Given the description of an element on the screen output the (x, y) to click on. 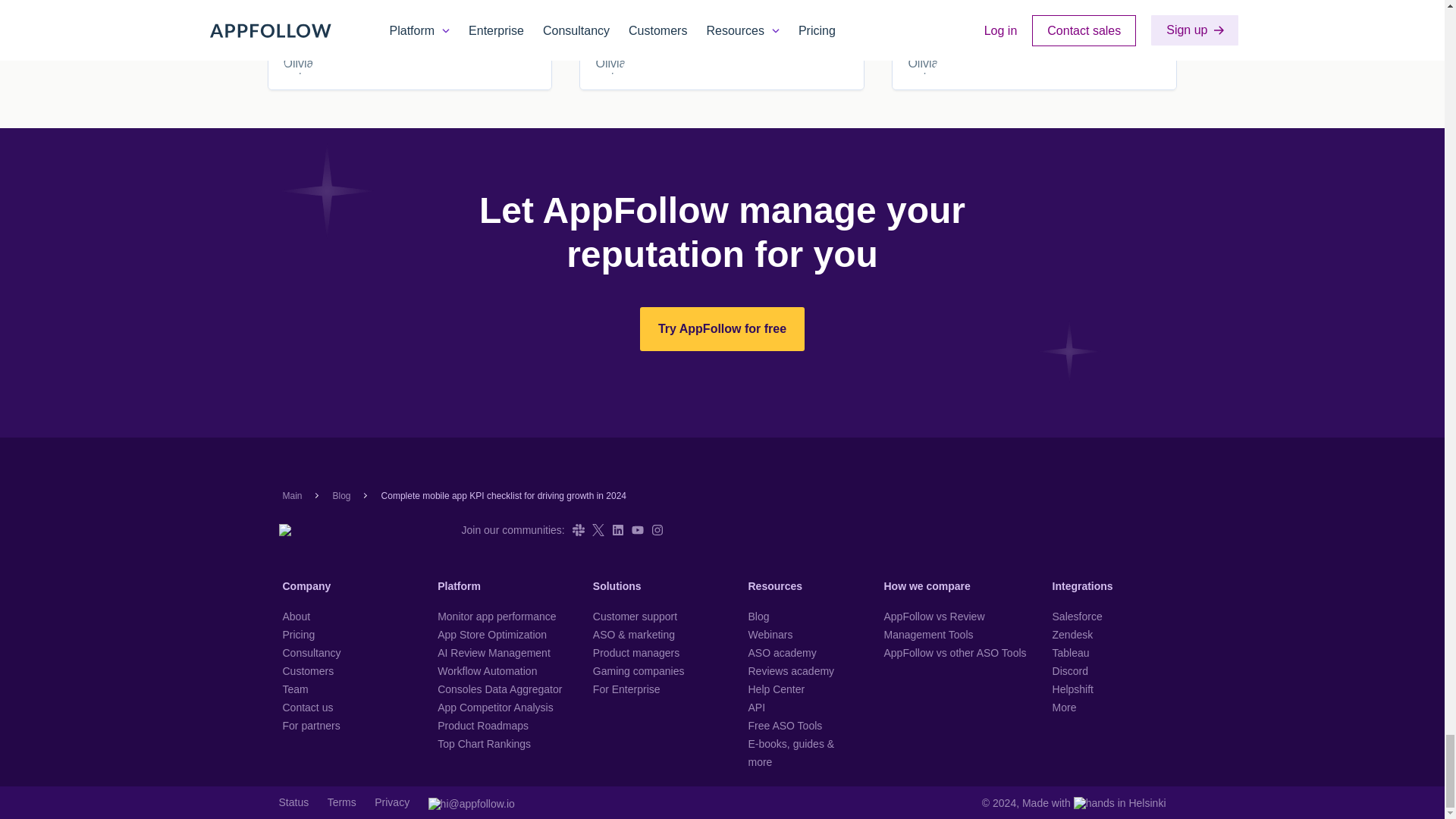
Instagram (656, 530)
LinkedIn (617, 530)
Main (291, 495)
YouTube (637, 530)
Slack (578, 530)
Blog (341, 495)
Twitter (598, 530)
Made with hands (1094, 802)
